Given the description of an element on the screen output the (x, y) to click on. 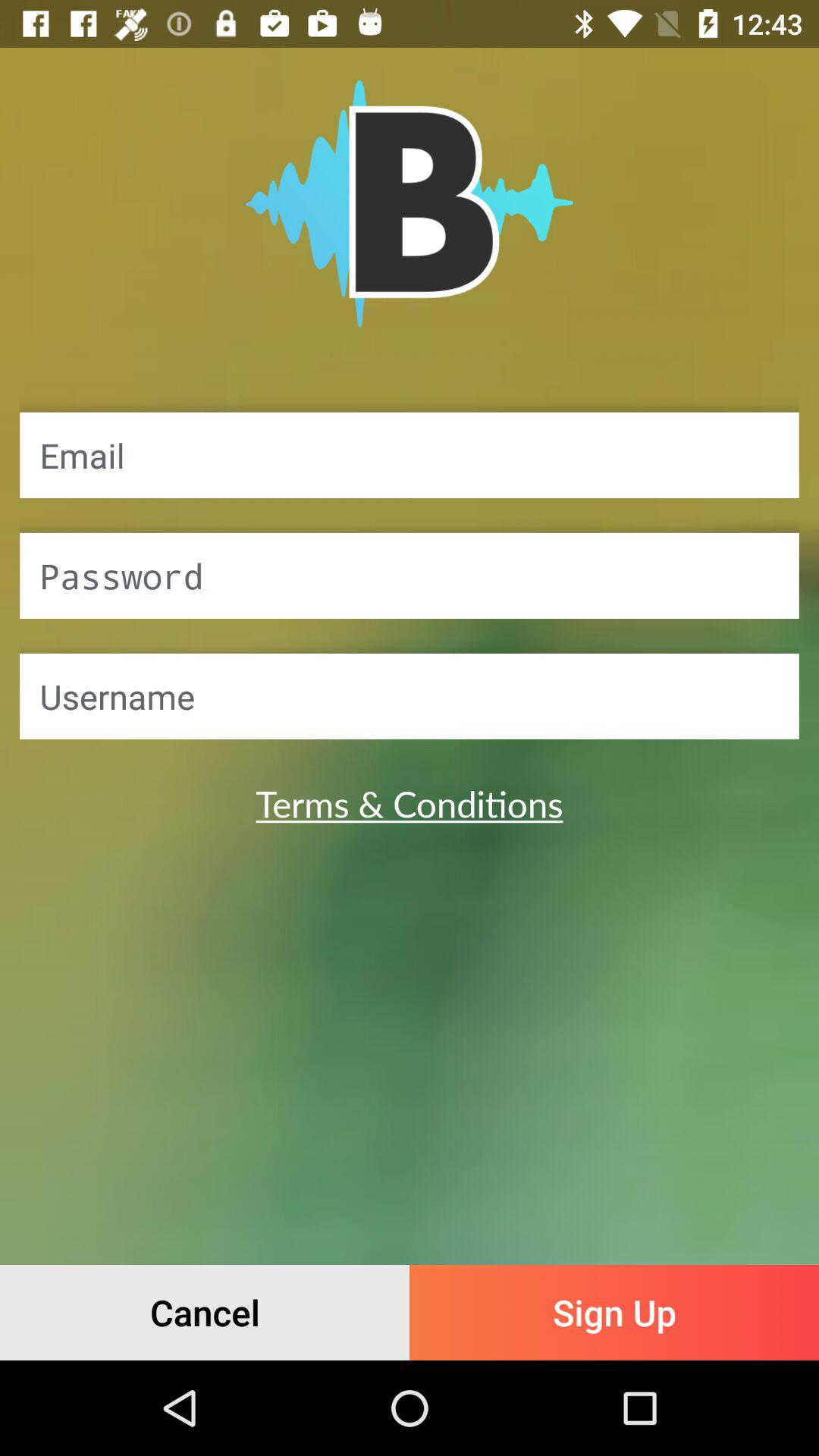
press the cancel item (204, 1312)
